Given the description of an element on the screen output the (x, y) to click on. 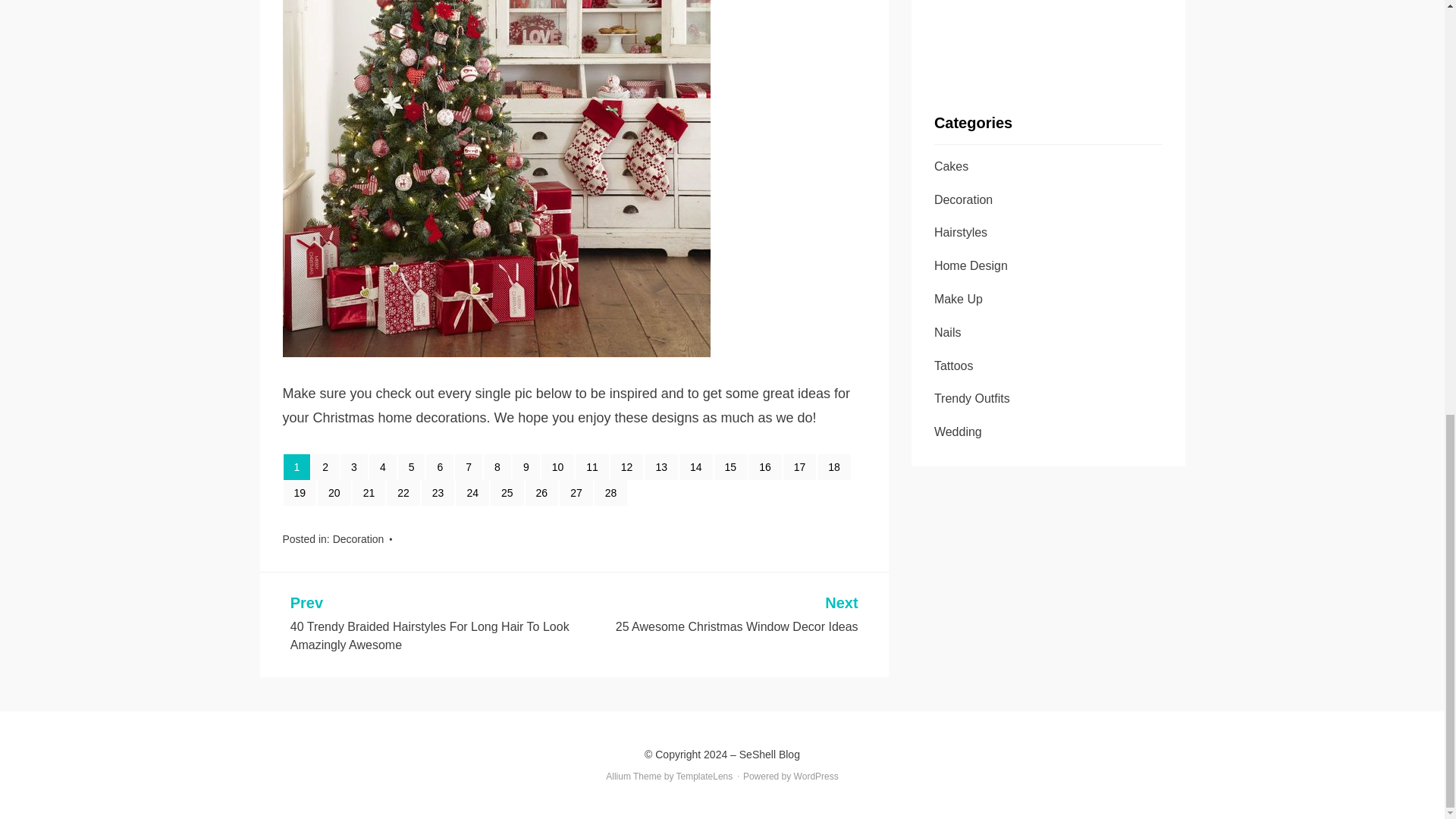
12 (626, 466)
24 (472, 492)
17 (799, 466)
21 (368, 492)
19 (300, 492)
13 (661, 466)
Advertisement (1047, 33)
7 (467, 466)
26 (542, 492)
4 (382, 466)
